Given the description of an element on the screen output the (x, y) to click on. 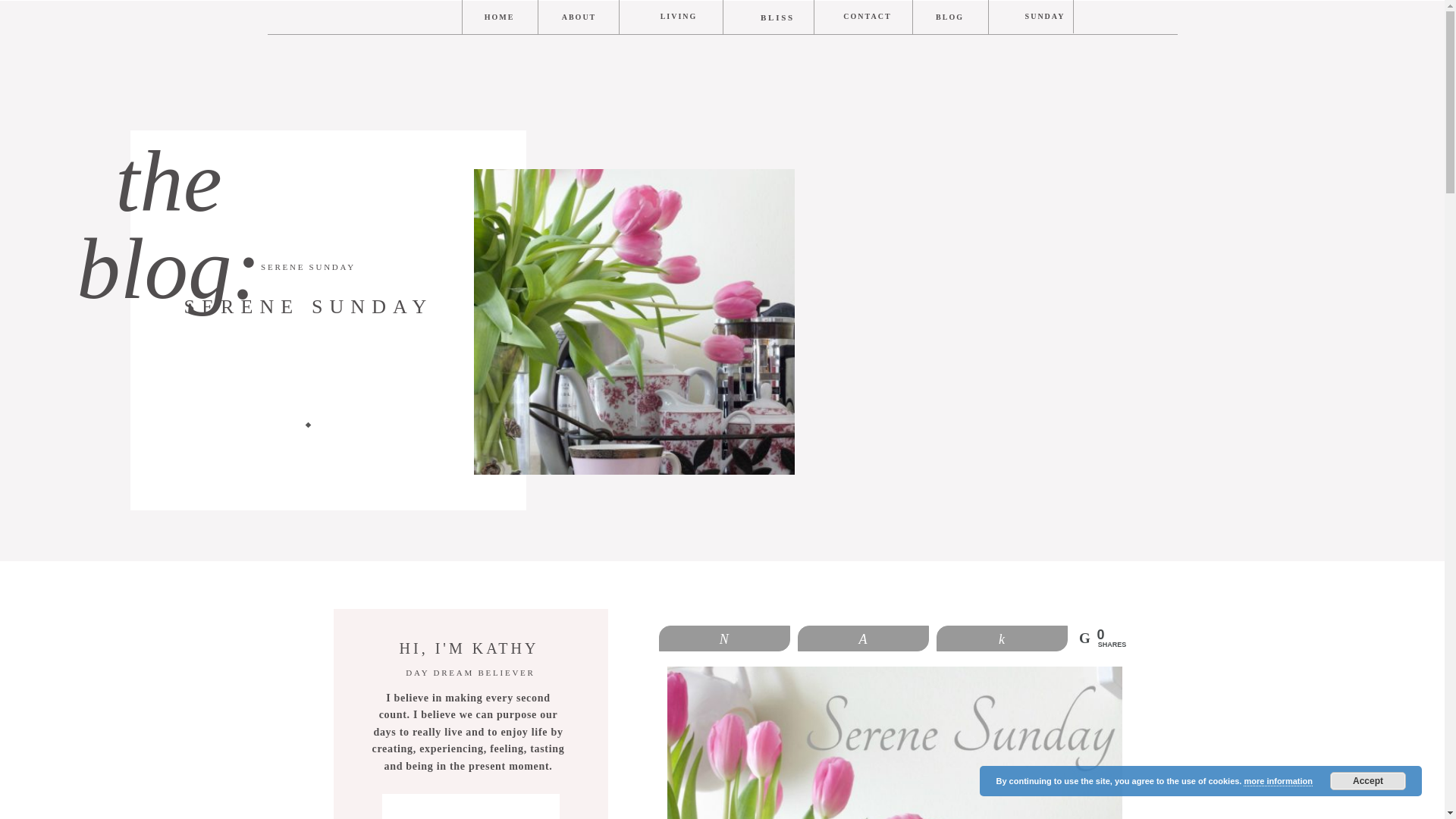
BLOG (950, 17)
BLISS (777, 16)
SUNDAY (1045, 16)
CONTACT (866, 16)
HOME (499, 17)
DAY DREAM BELIEVER (470, 672)
LIVING (678, 16)
ABOUT (577, 17)
SERENE SUNDAY (307, 266)
